Given the description of an element on the screen output the (x, y) to click on. 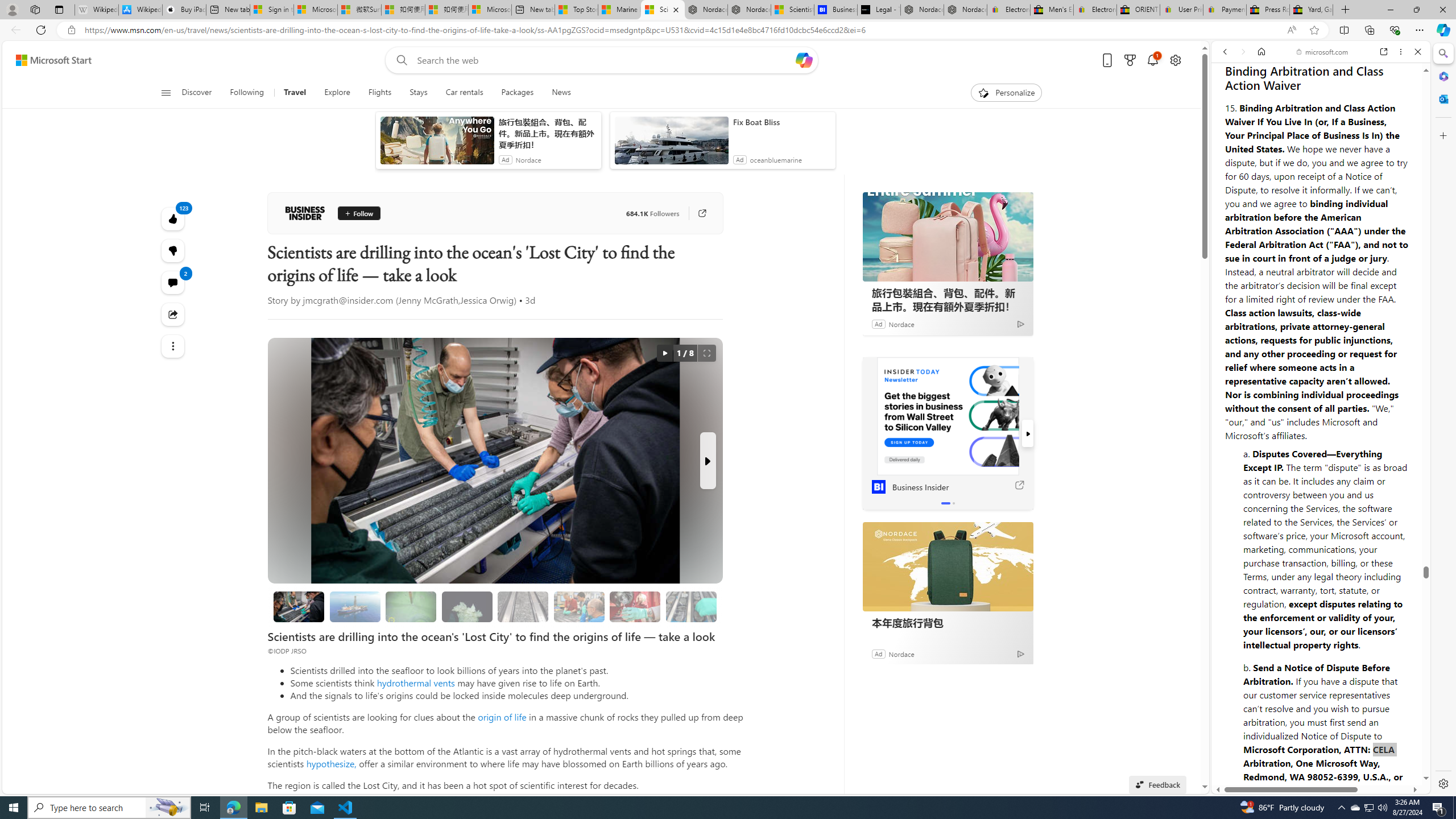
Following (248, 92)
Yard, Garden & Outdoor Living (1311, 9)
Car rentals (464, 92)
Flights (379, 92)
Looking for evidence of oxygen-free life (578, 606)
This site scope (1259, 102)
Microsoft rewards (1129, 60)
Fix Boat Bliss (781, 121)
Advertise (1335, 751)
Dislike (172, 250)
Open settings (1175, 60)
Feedback (1384, 757)
